Given the description of an element on the screen output the (x, y) to click on. 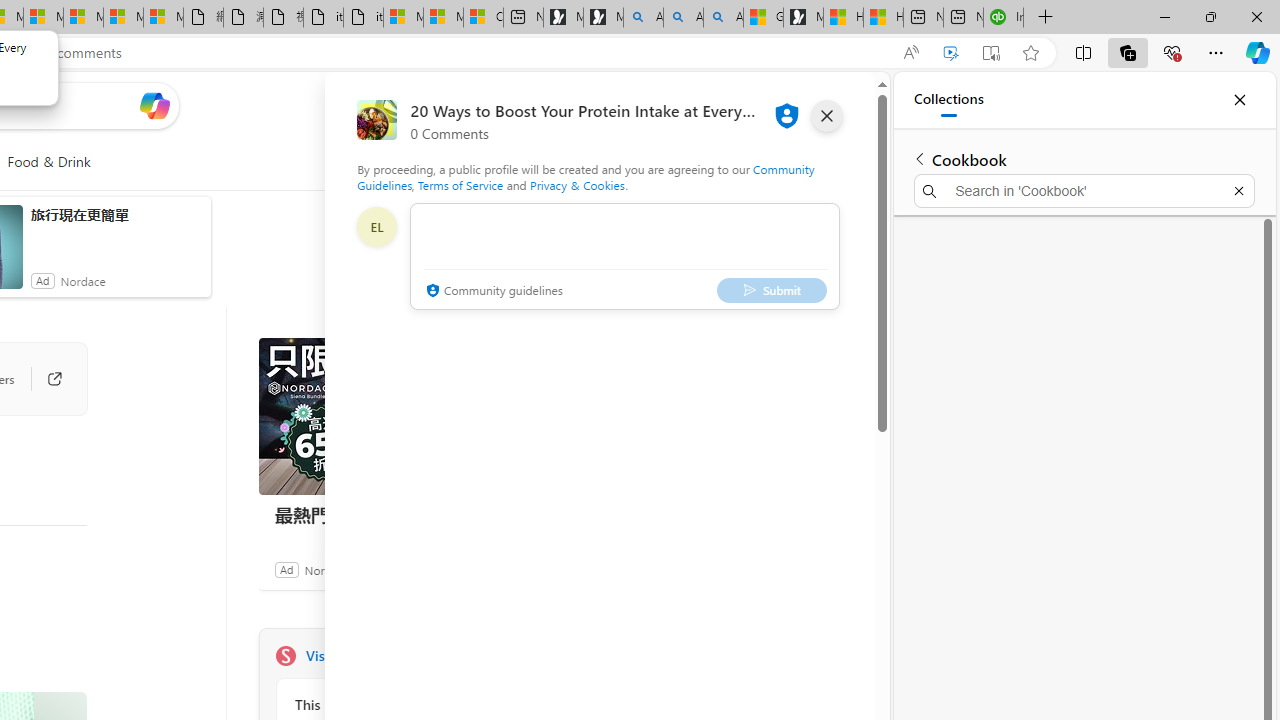
Intuit QuickBooks Online - Quickbooks (1003, 17)
Submit (771, 290)
Enhance video (950, 53)
Microsoft Services Agreement (43, 17)
comment-box (624, 256)
Microsoft account | Privacy (443, 17)
Exit search (1238, 190)
Community Guidelines (586, 176)
Microsoft rewards (749, 105)
Visit Shape website (532, 655)
